Given the description of an element on the screen output the (x, y) to click on. 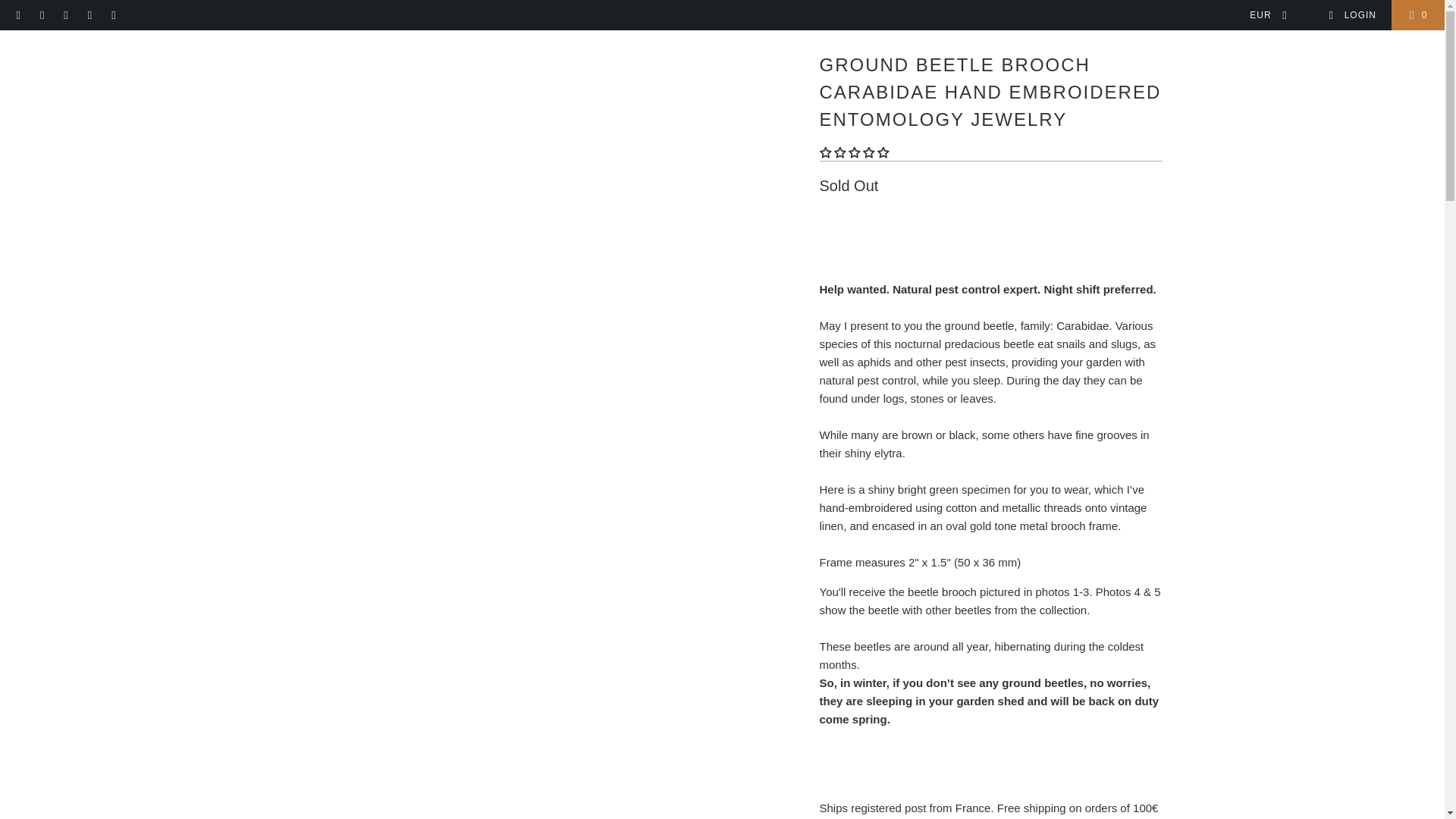
Encounter the extraordinary (387, 23)
Blue Terracotta (287, 23)
My Account  (1351, 15)
Previous (1092, 23)
Blue Terracotta (727, 55)
Email Blue Terracotta (112, 14)
Blue Terracotta on Instagram (89, 14)
Blue Terracotta on YouTube (65, 14)
Blue Terracotta on Twitter (17, 14)
Next (1152, 23)
Blue Terracotta on Facebook (41, 14)
